Given the description of an element on the screen output the (x, y) to click on. 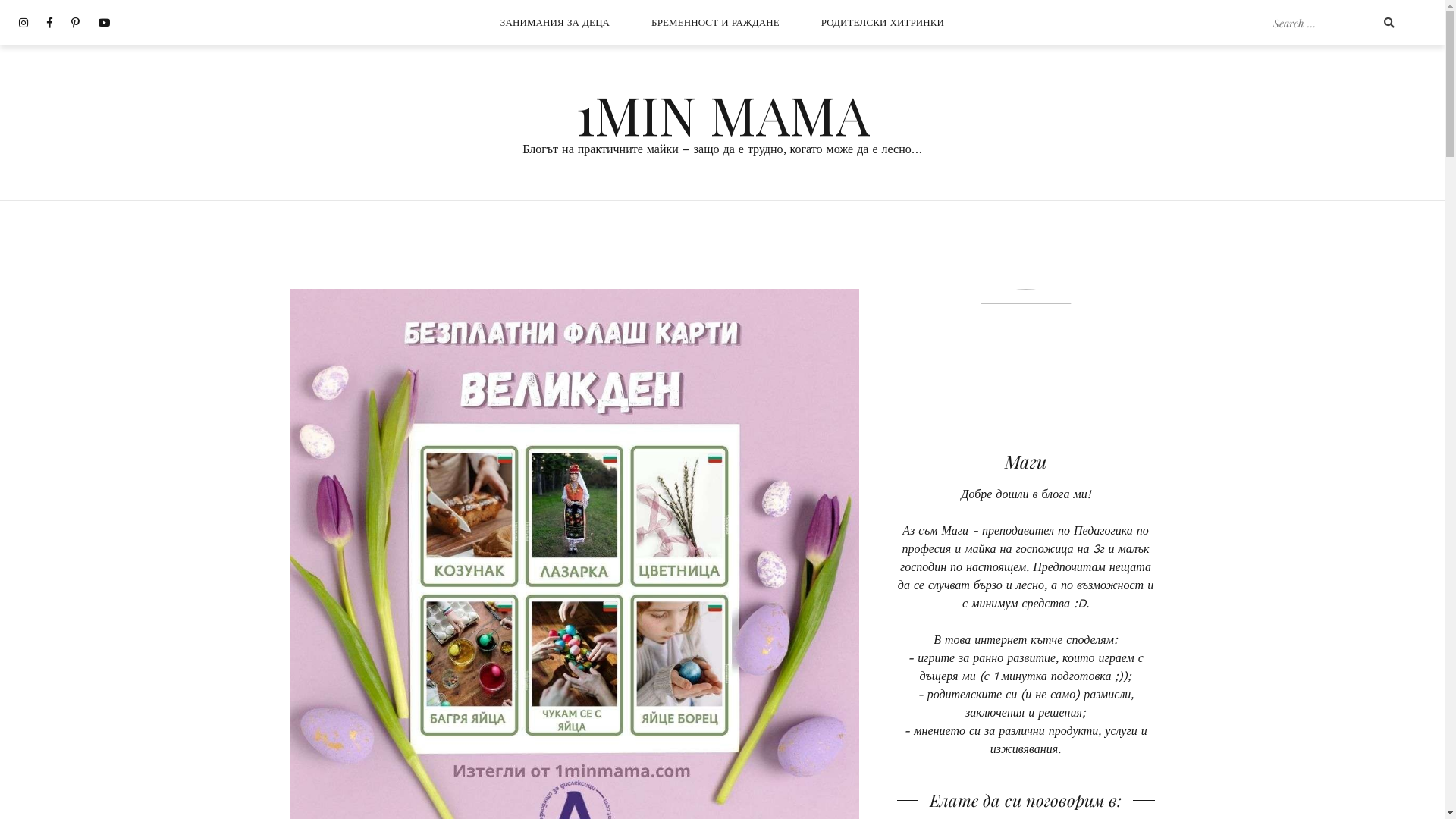
Youtube Element type: text (104, 22)
Instagram Element type: text (23, 22)
1MIN MAMA Element type: text (721, 113)
Pinterest Element type: text (75, 22)
Facebook Element type: text (49, 22)
